Given the description of an element on the screen output the (x, y) to click on. 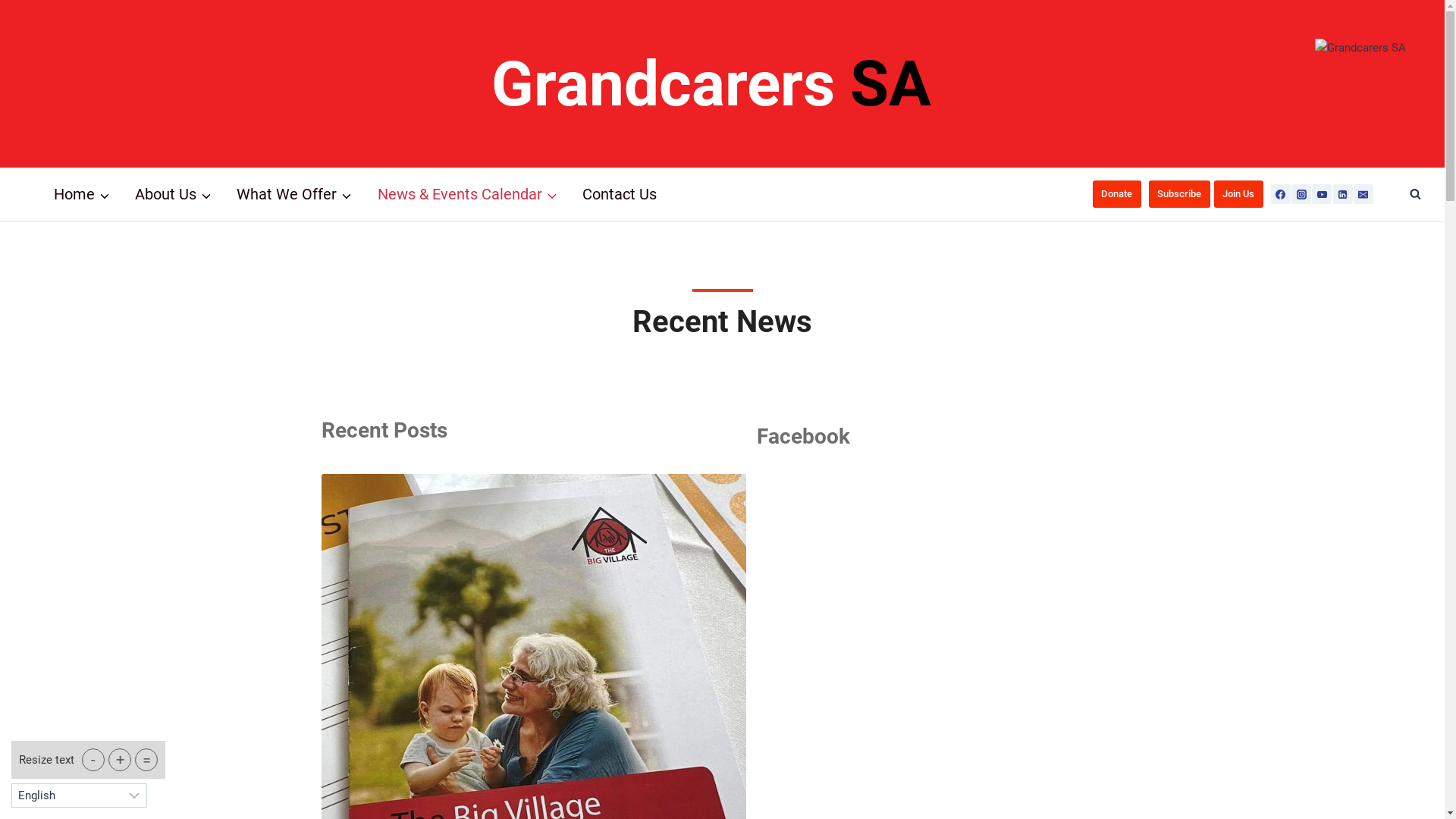
Contact Us Element type: text (619, 193)
Join Us Element type: text (1238, 193)
News & Events Calendar Element type: text (466, 193)
Donate Element type: text (1116, 193)
What We Offer Element type: text (294, 193)
Subscribe Element type: text (1179, 193)
Home Element type: text (81, 193)
About Us Element type: text (172, 193)
